Given the description of an element on the screen output the (x, y) to click on. 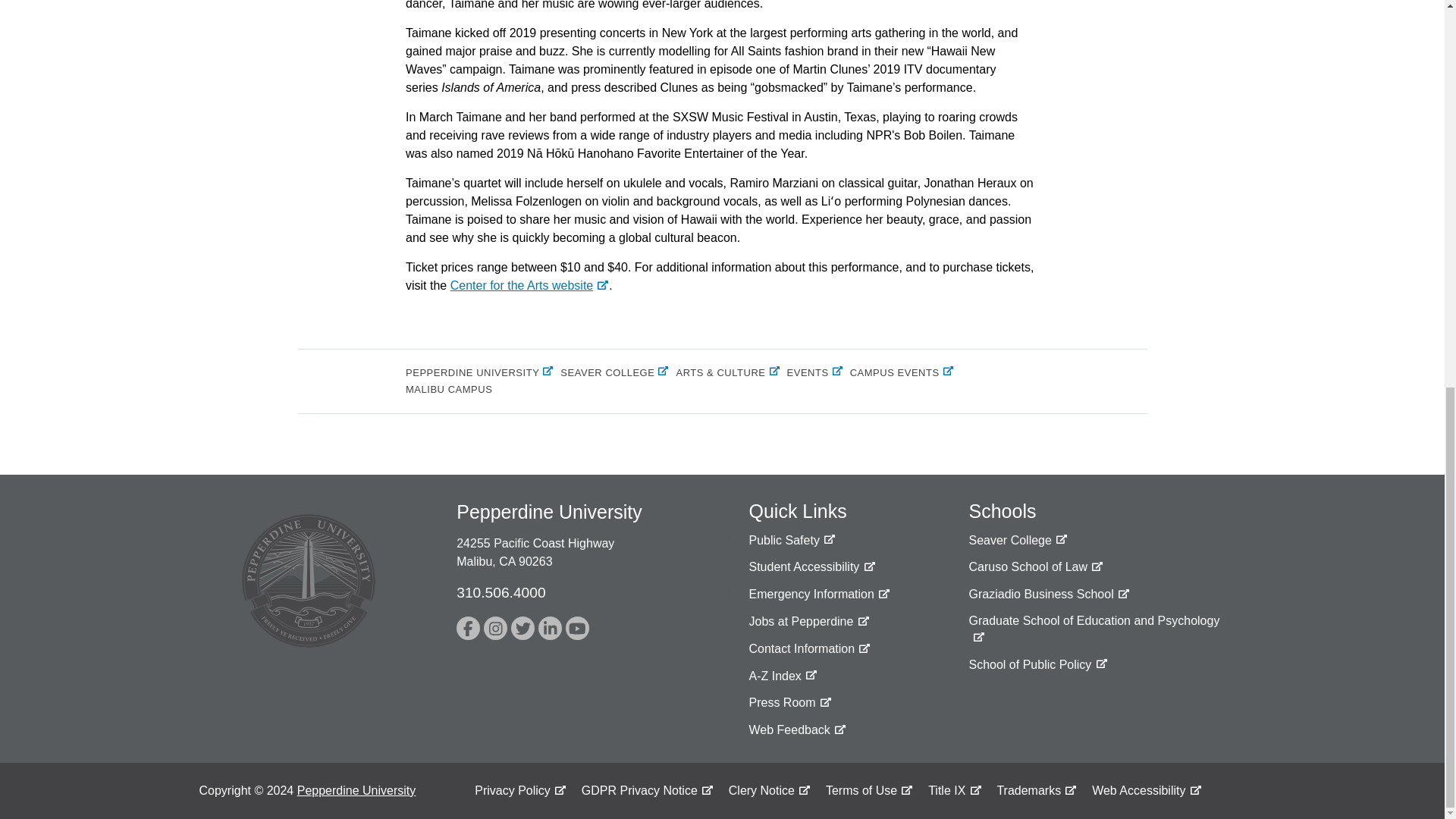
Link to External Site (1037, 664)
Link to External Site (1048, 594)
Link to External Site (1095, 629)
Link to External Site (1035, 566)
Link to External Site (468, 627)
Call (500, 592)
Link to External Site (1017, 540)
Link to External Site (494, 627)
Link to External Site (522, 627)
Link to External Site (529, 285)
Link to External Site (818, 594)
